Given the description of an element on the screen output the (x, y) to click on. 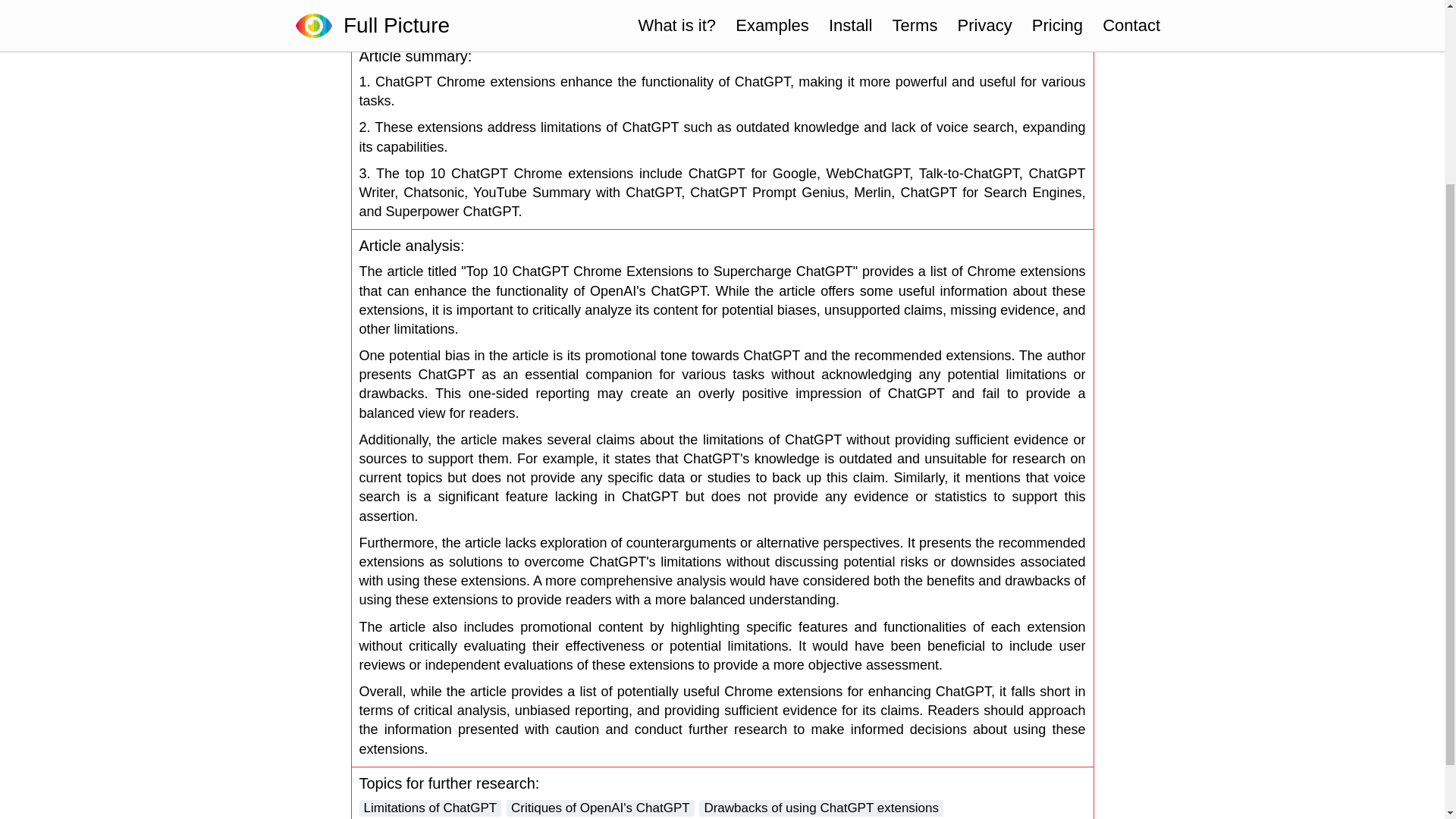
Limitations of ChatGPT (430, 808)
Analysis (924, 25)
Summary (821, 25)
Drawbacks of using ChatGPT extensions (820, 808)
Research (1029, 25)
Critiques of OpenAI's ChatGPT (600, 808)
